Given the description of an element on the screen output the (x, y) to click on. 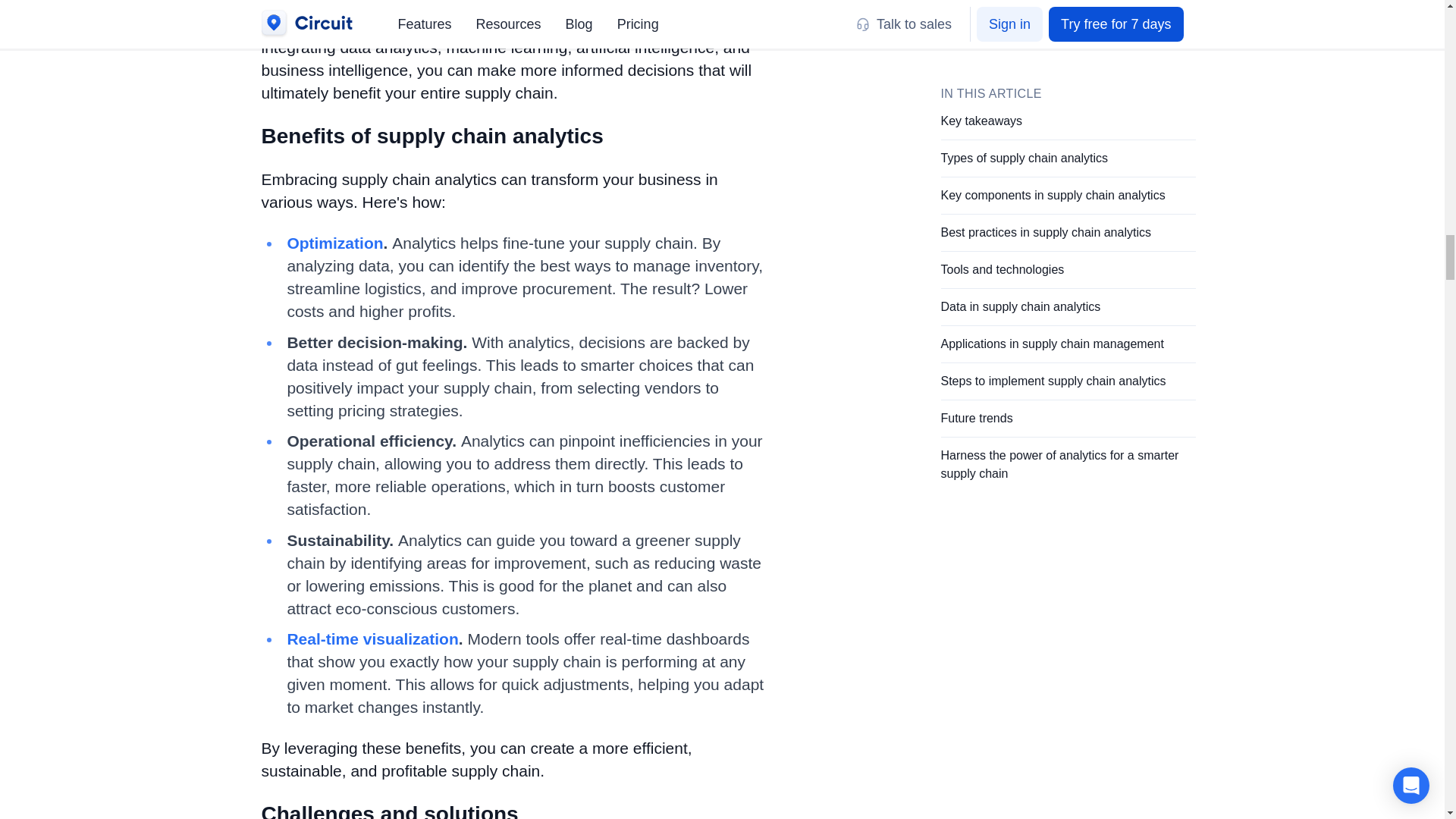
Real-time visualization (372, 638)
Optimization (334, 243)
